Given the description of an element on the screen output the (x, y) to click on. 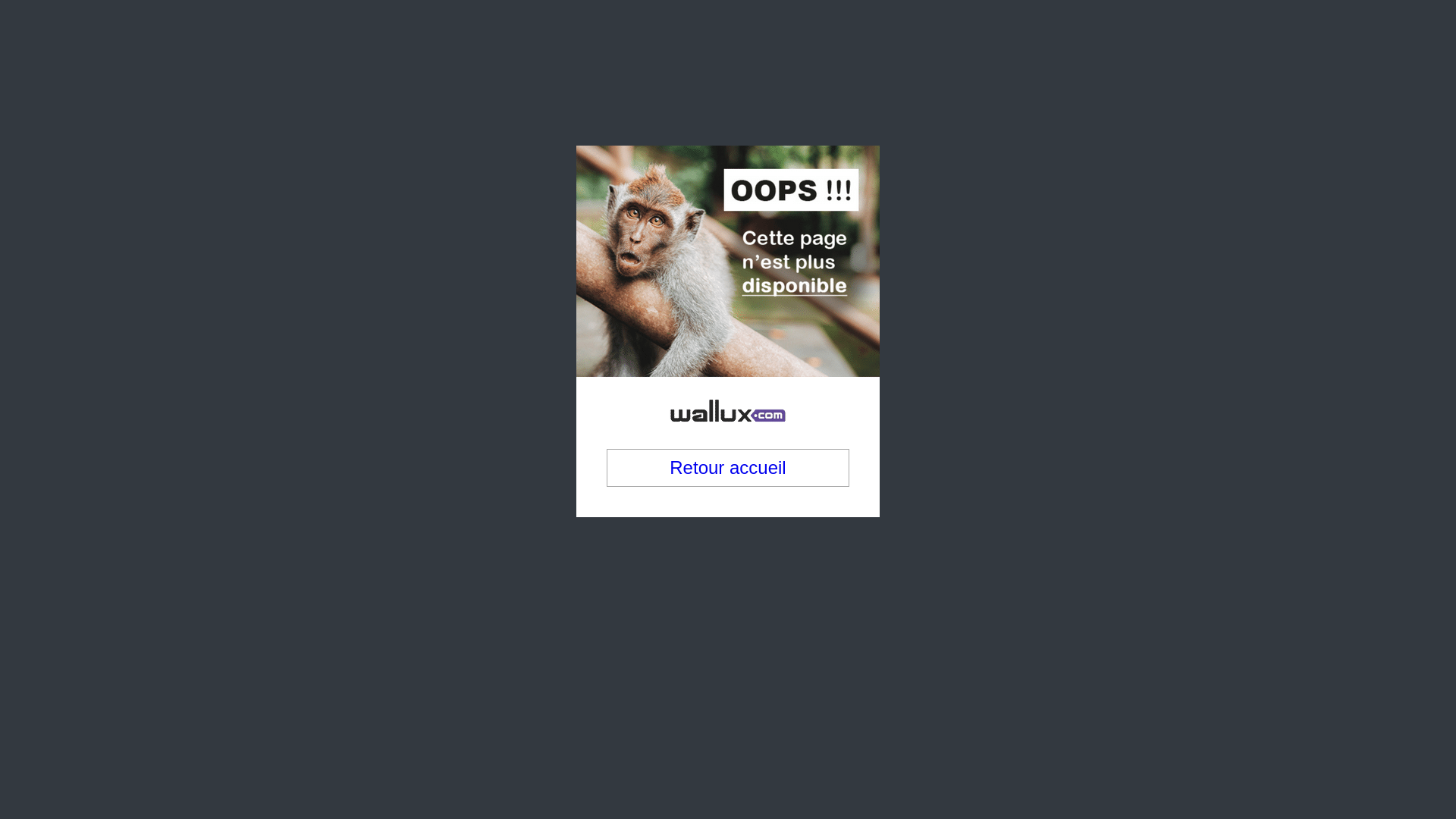
Retour accueil Element type: text (727, 385)
wallux.com Element type: hover (727, 296)
